Given the description of an element on the screen output the (x, y) to click on. 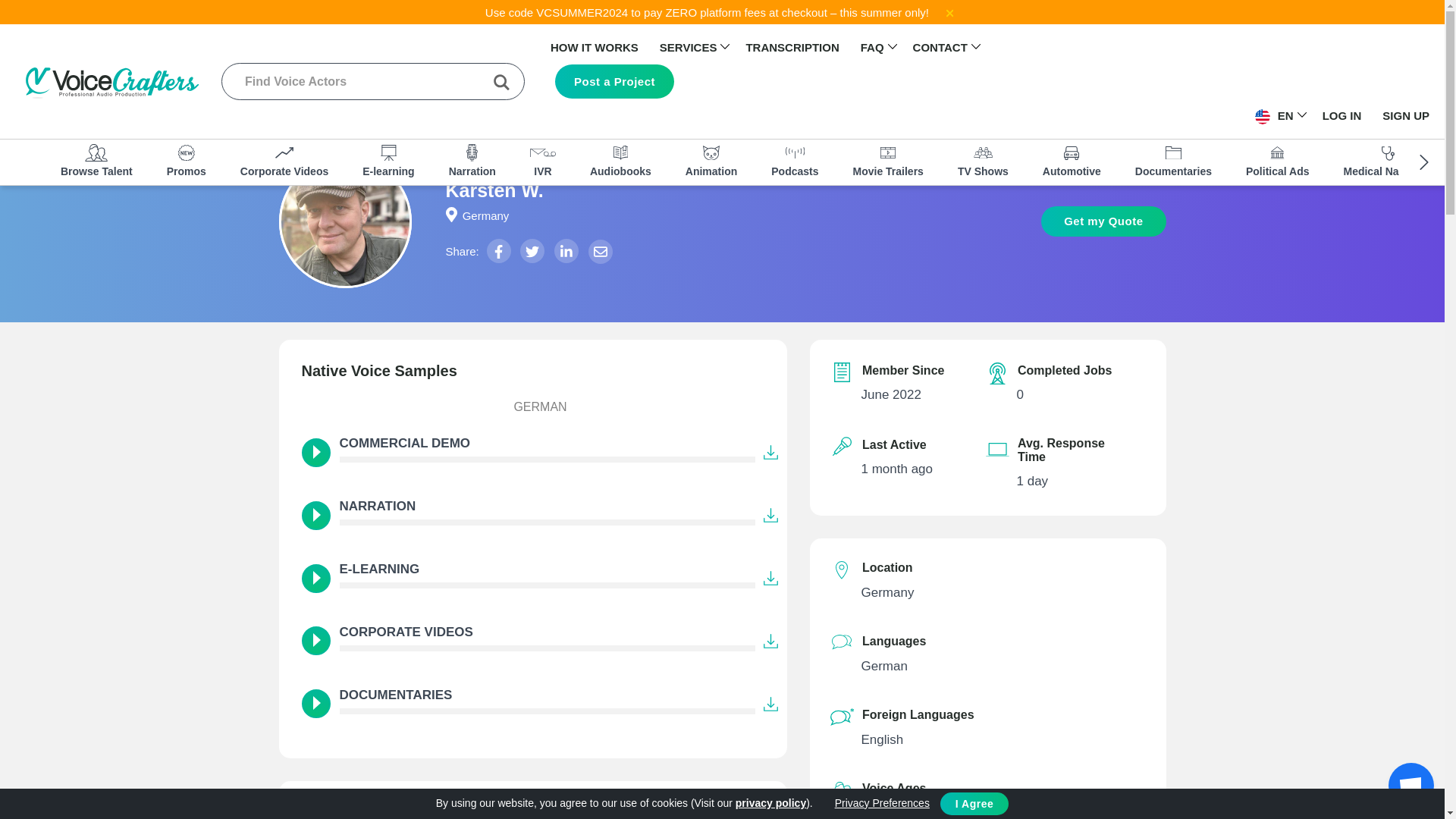
Hide notification (949, 12)
Privacy Preferences (884, 802)
HOW IT WORKS (594, 47)
TRANSCRIPTION (791, 47)
Share via LinkedIn (566, 250)
Share via Facebook (498, 250)
Share via Twitter (531, 250)
I Agree (974, 803)
privacy policy (770, 802)
GERMAN (532, 408)
SERVICES (688, 49)
